Given the description of an element on the screen output the (x, y) to click on. 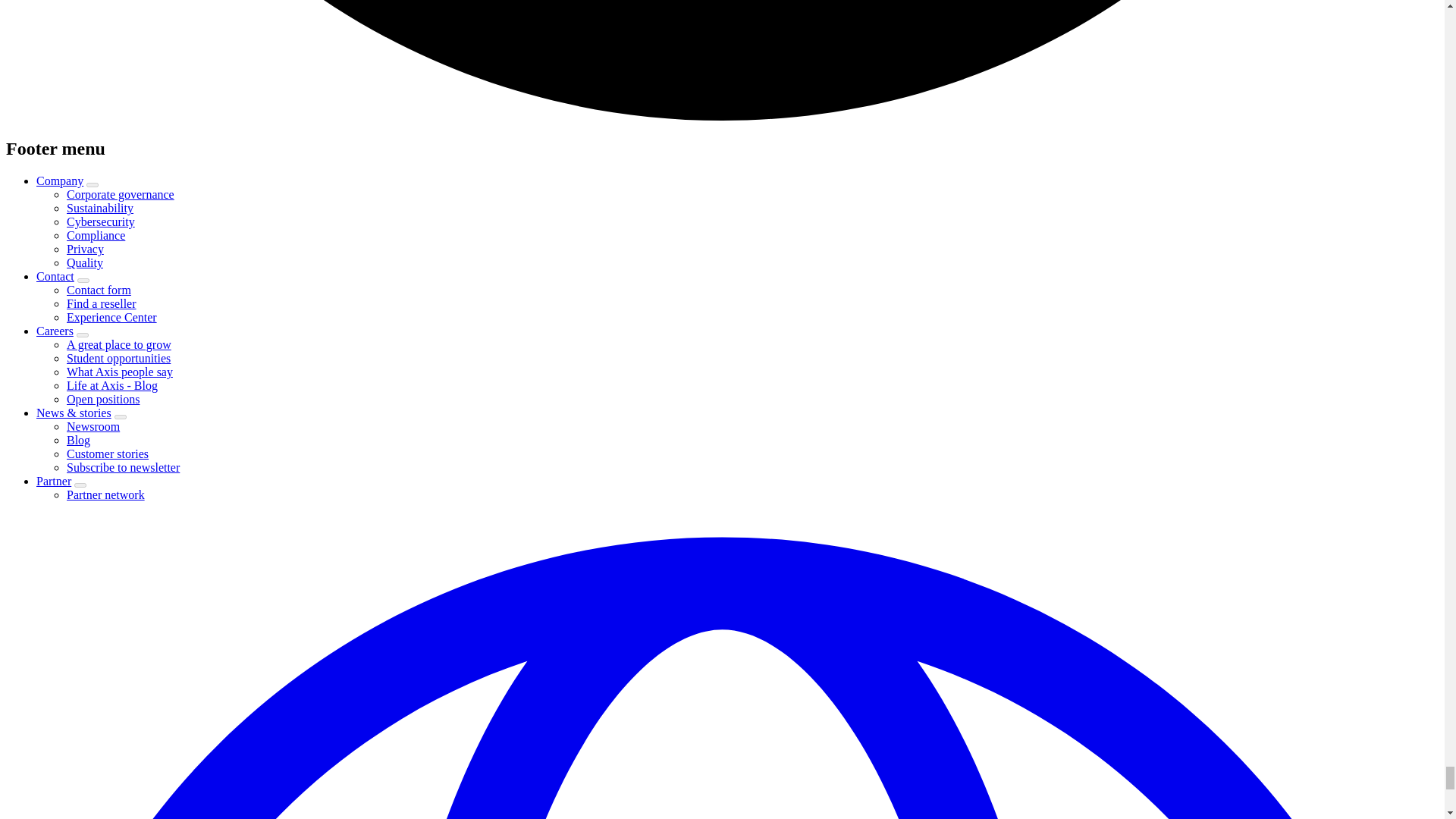
Compliance (95, 235)
